Given the description of an element on the screen output the (x, y) to click on. 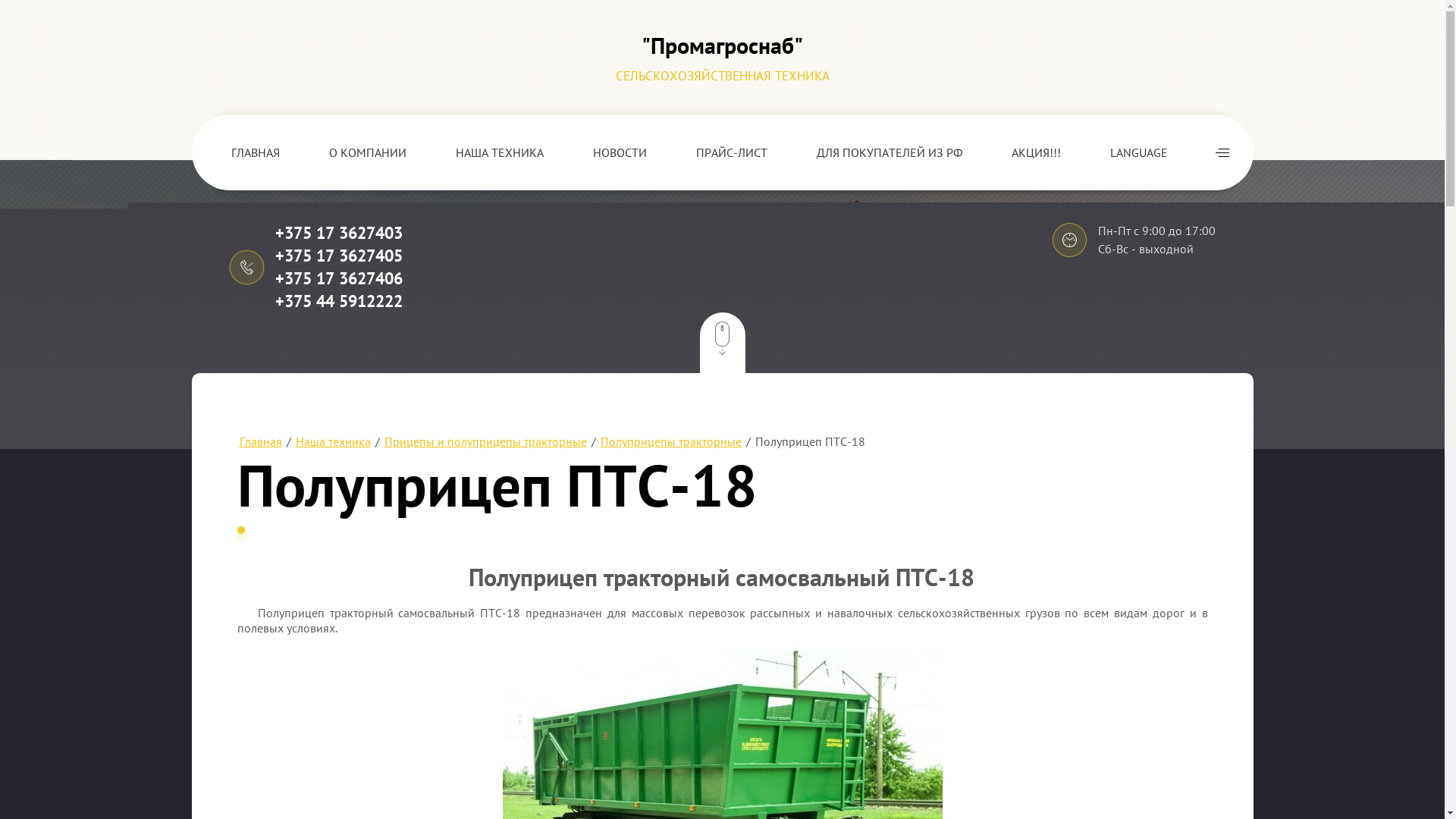
+375 17 3627405 Element type: text (337, 255)
... Element type: text (1222, 152)
+375 17 3627403 Element type: text (337, 232)
+375 17 3627406 Element type: text (337, 277)
LANGUAGE Element type: text (1138, 152)
+375 44 5912222 Element type: text (337, 300)
